Given the description of an element on the screen output the (x, y) to click on. 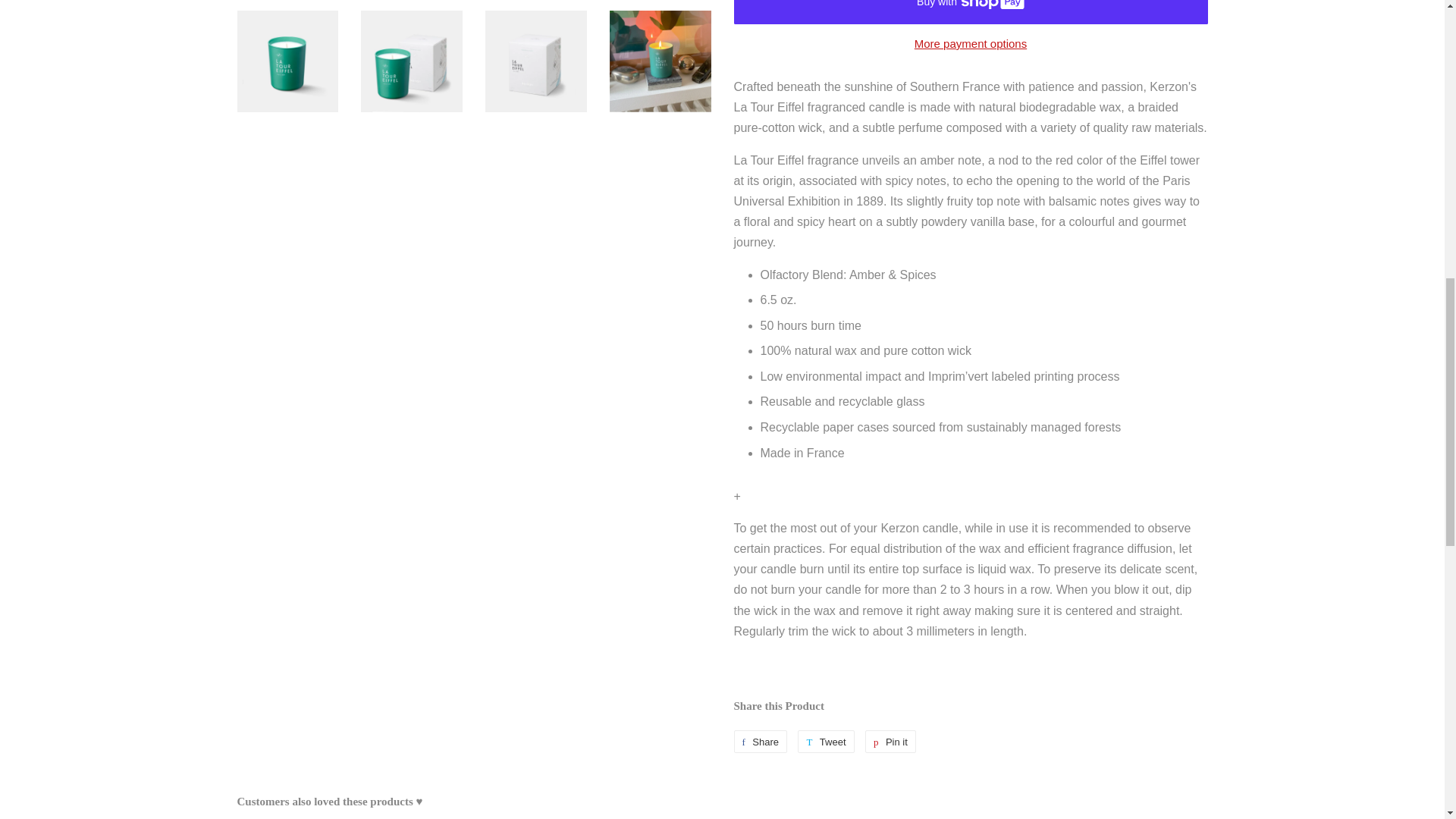
Pin on Pinterest (889, 741)
Share on Facebook (760, 741)
Tweet on Twitter (825, 741)
